Given the description of an element on the screen output the (x, y) to click on. 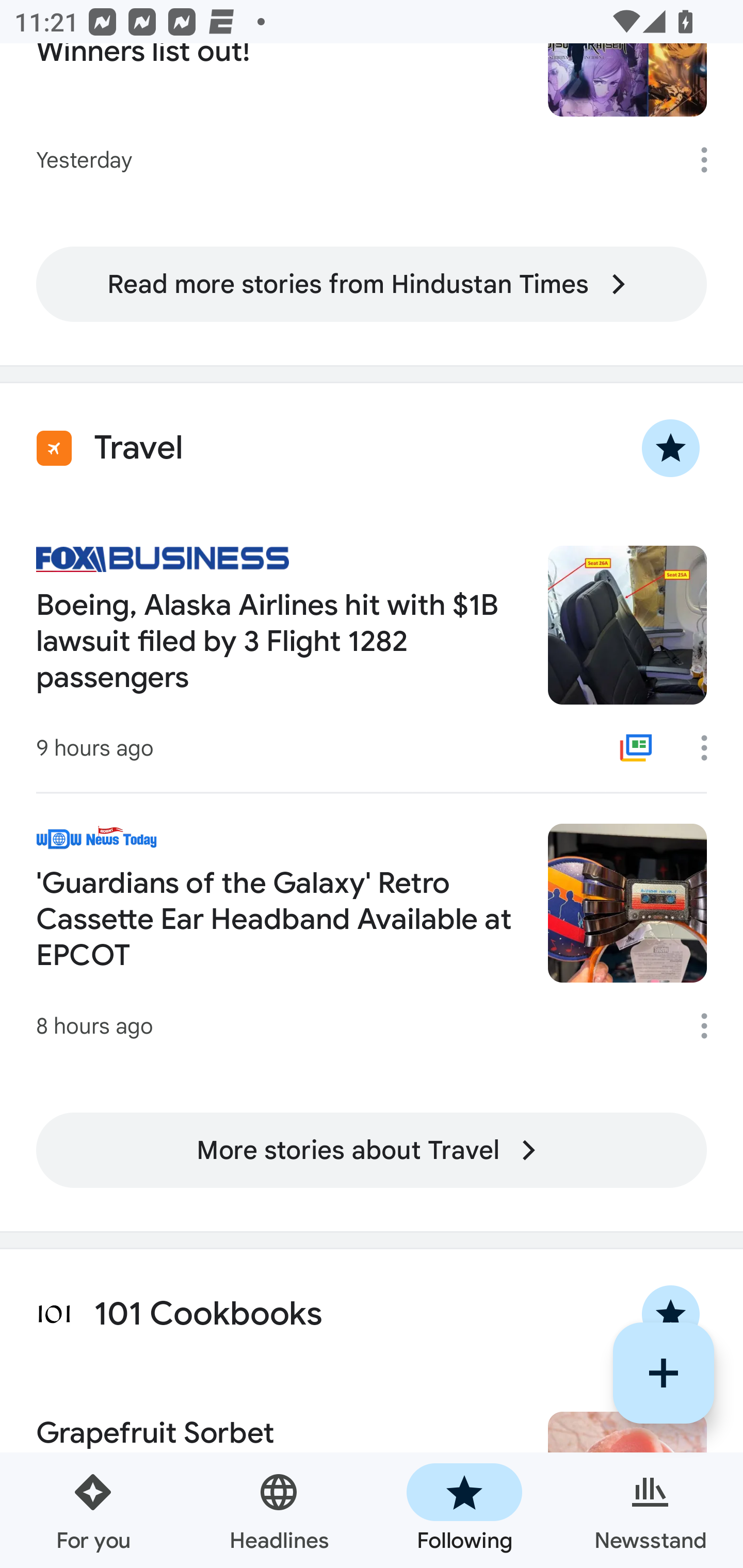
More options (711, 159)
Read more stories from Hindustan Times (371, 283)
Travel Travel Unfollow (371, 447)
Unfollow (670, 447)
More options (711, 747)
More options (711, 1026)
More stories about Travel (371, 1150)
101 Cookbooks 101 Cookbooks Unfollow (371, 1314)
Unfollow (670, 1314)
Follow (663, 1372)
For you (92, 1509)
Headlines (278, 1509)
Following (464, 1509)
Newsstand (650, 1509)
